Given the description of an element on the screen output the (x, y) to click on. 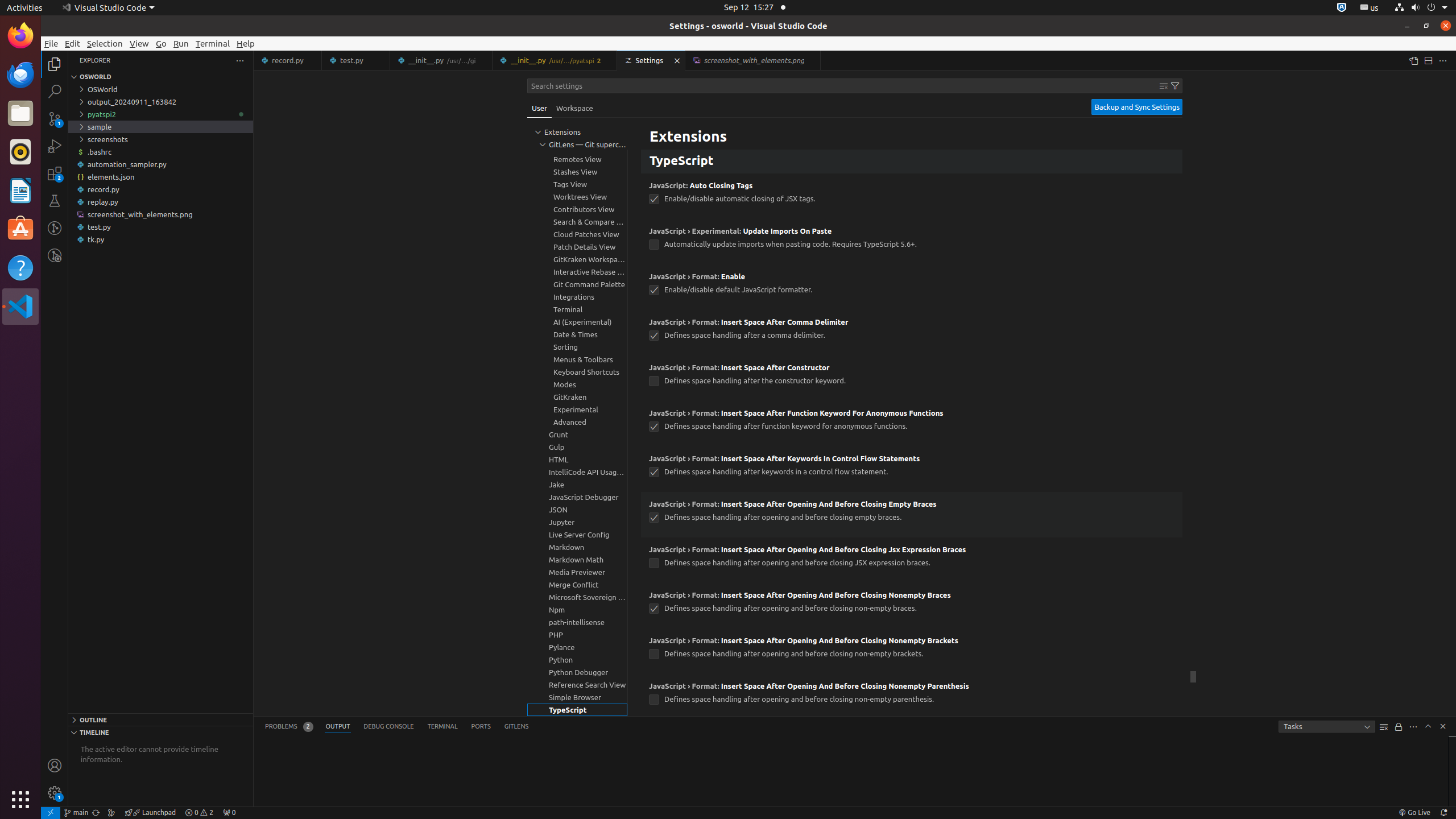
broadcast Go Live, Click to run live server Element type: push-button (1414, 812)
Menus & Toolbars, group Element type: tree-item (577, 359)
Output (Ctrl+K Ctrl+H) Element type: page-tab (337, 726)
Clear Output Element type: push-button (1383, 726)
javascript.format.insertSpaceAfterFunctionKeywordForAnonymousFunctions Element type: check-box (653, 426)
